Given the description of an element on the screen output the (x, y) to click on. 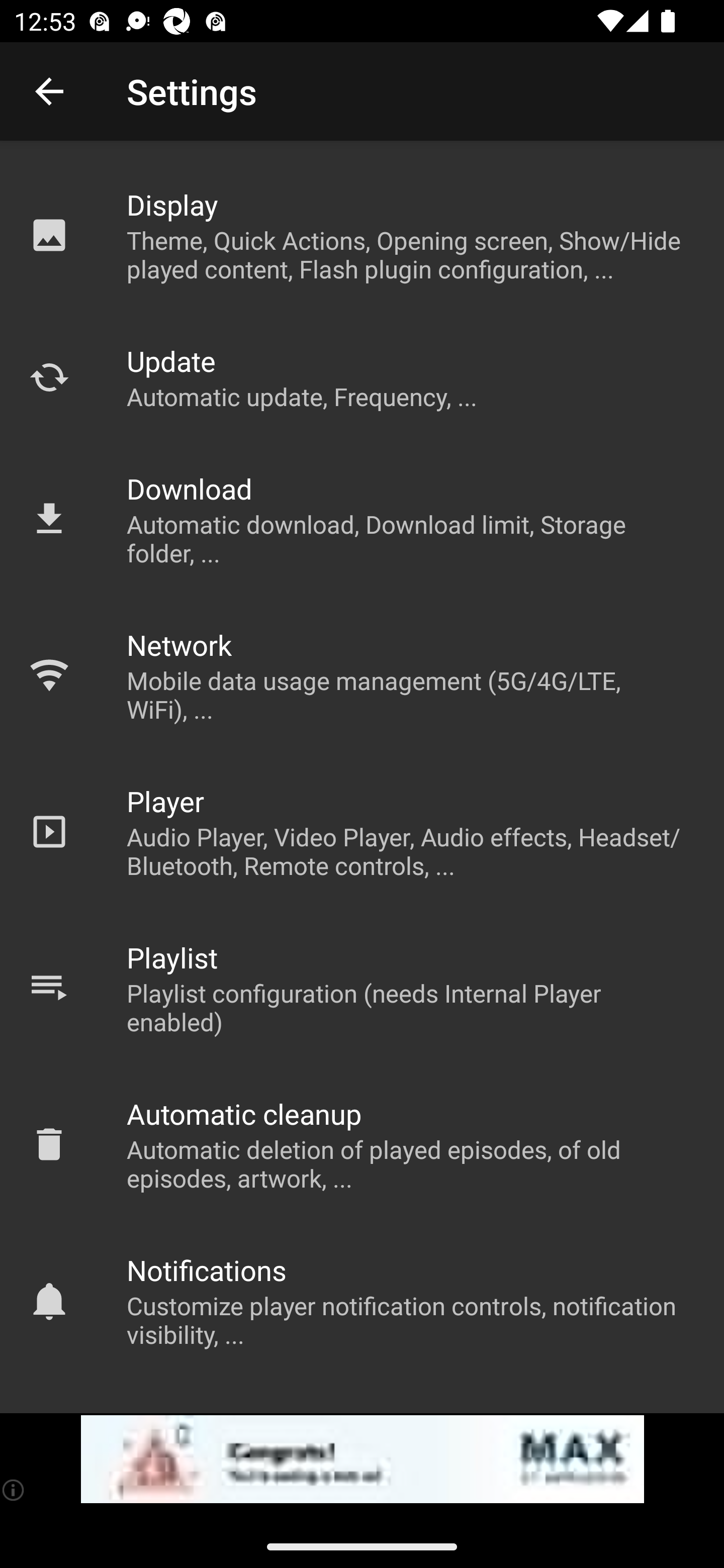
Navigate up (49, 91)
Update Automatic update, Frequency, ... (362, 376)
app-monetization (362, 1459)
(i) (14, 1489)
